Given the description of an element on the screen output the (x, y) to click on. 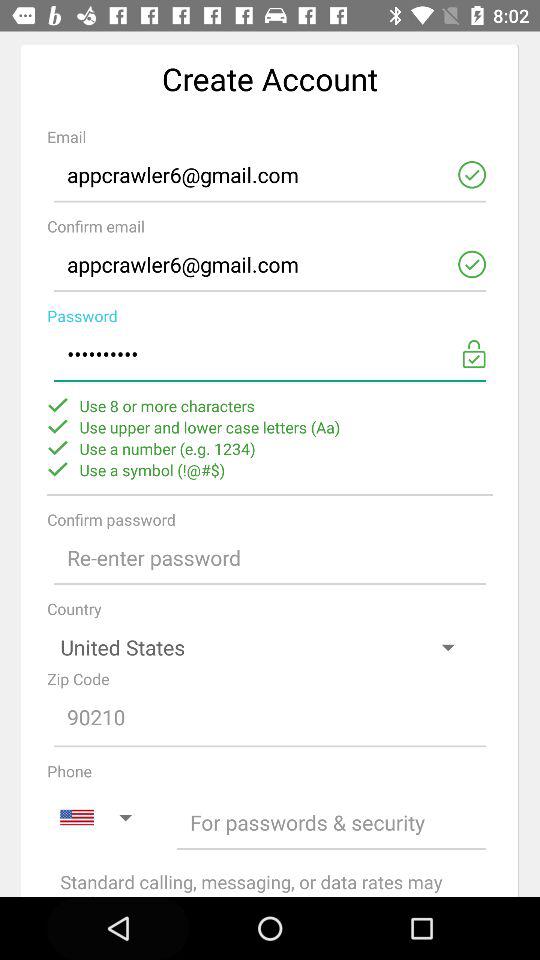
confirm password (270, 557)
